Given the description of an element on the screen output the (x, y) to click on. 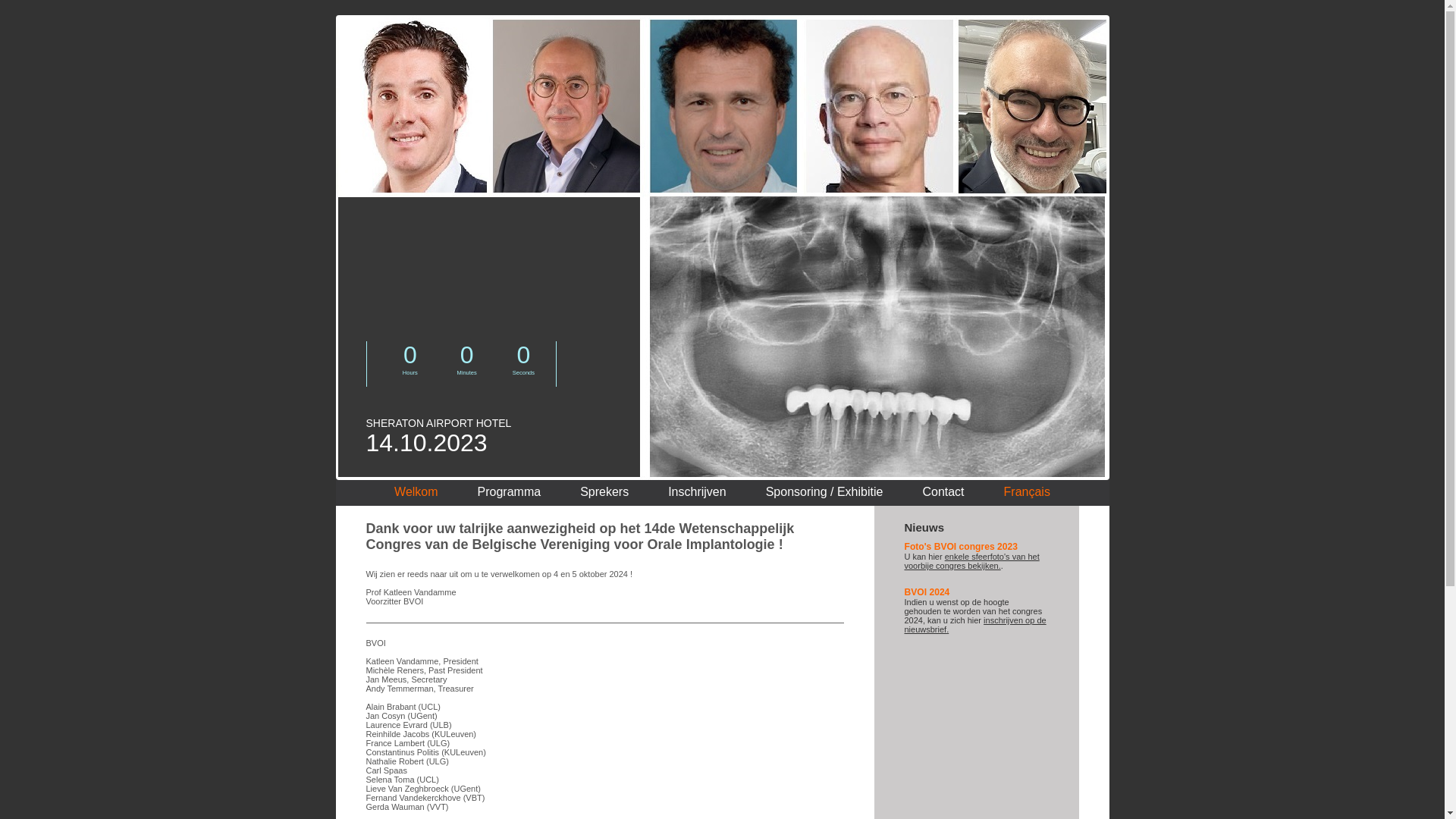
Contact Element type: text (942, 491)
enkele sfeerfoto's van het voorbije congres bekijken. Element type: text (970, 561)
Programma Element type: text (509, 491)
Inschrijven Element type: text (696, 491)
Sponsoring / Exhibitie Element type: text (824, 491)
Sprekers Element type: text (604, 491)
Welkom Element type: text (416, 491)
inschrijven op de nieuwsbrief Element type: text (974, 624)
